Given the description of an element on the screen output the (x, y) to click on. 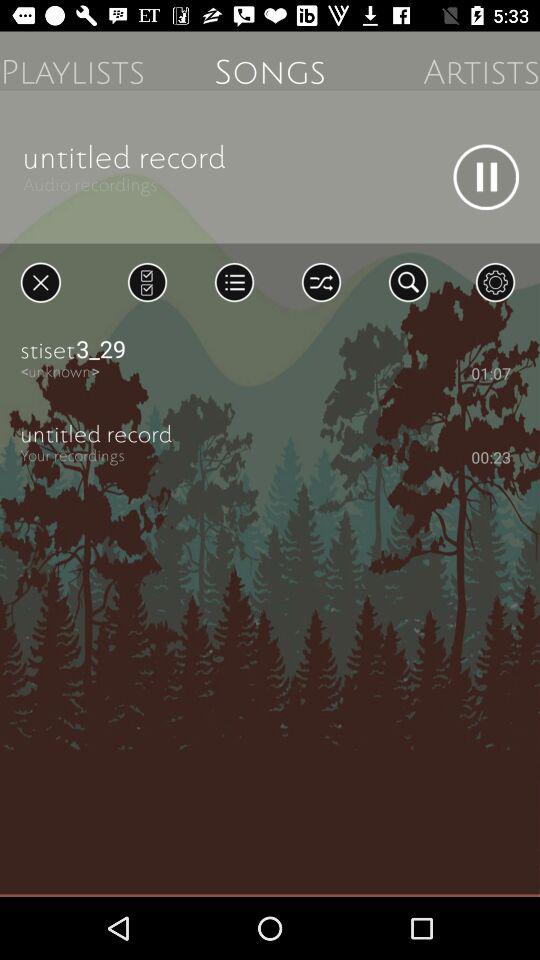
setting button (495, 282)
